Given the description of an element on the screen output the (x, y) to click on. 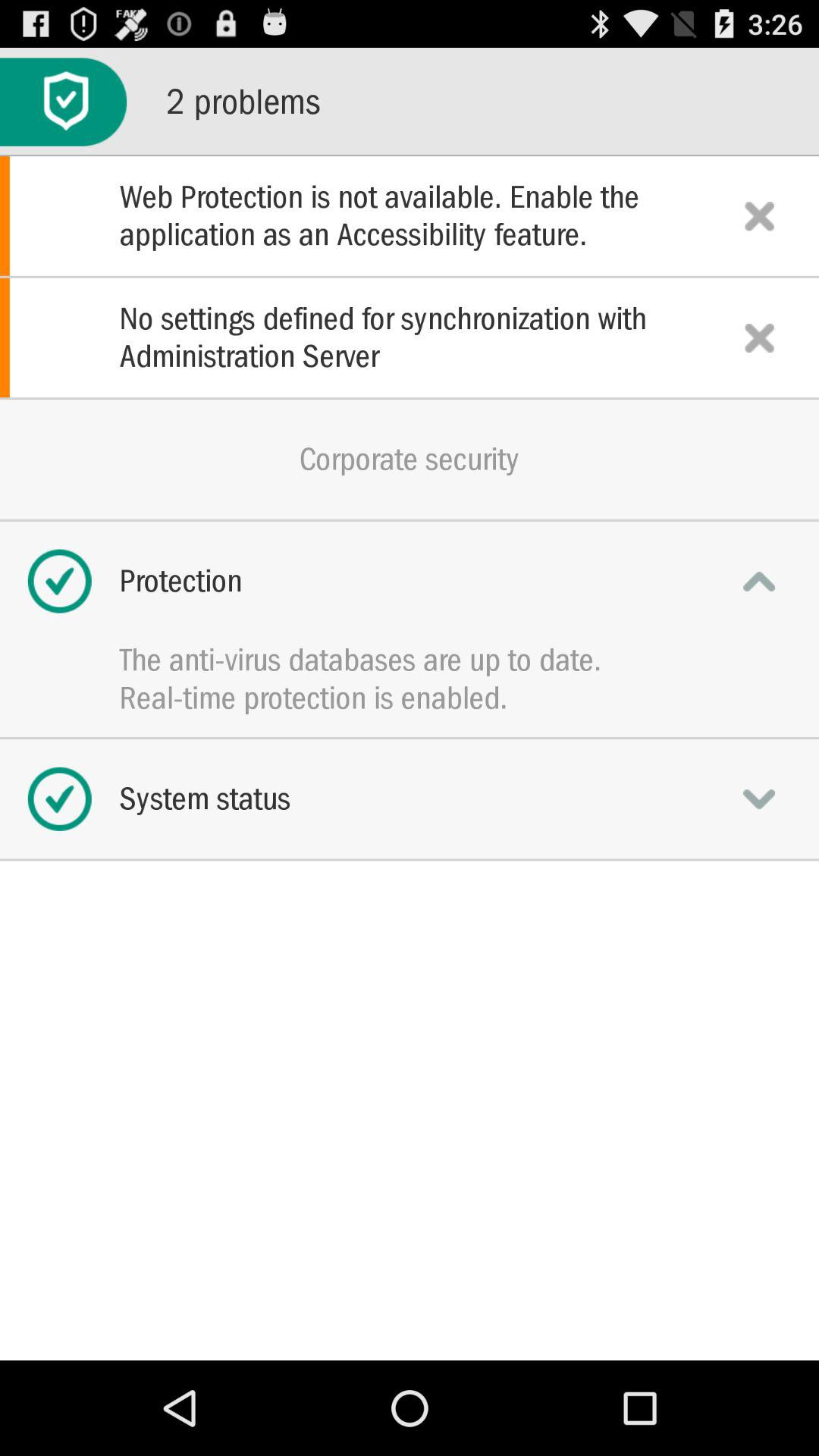
tap the icon above the web protection is icon (63, 102)
